Given the description of an element on the screen output the (x, y) to click on. 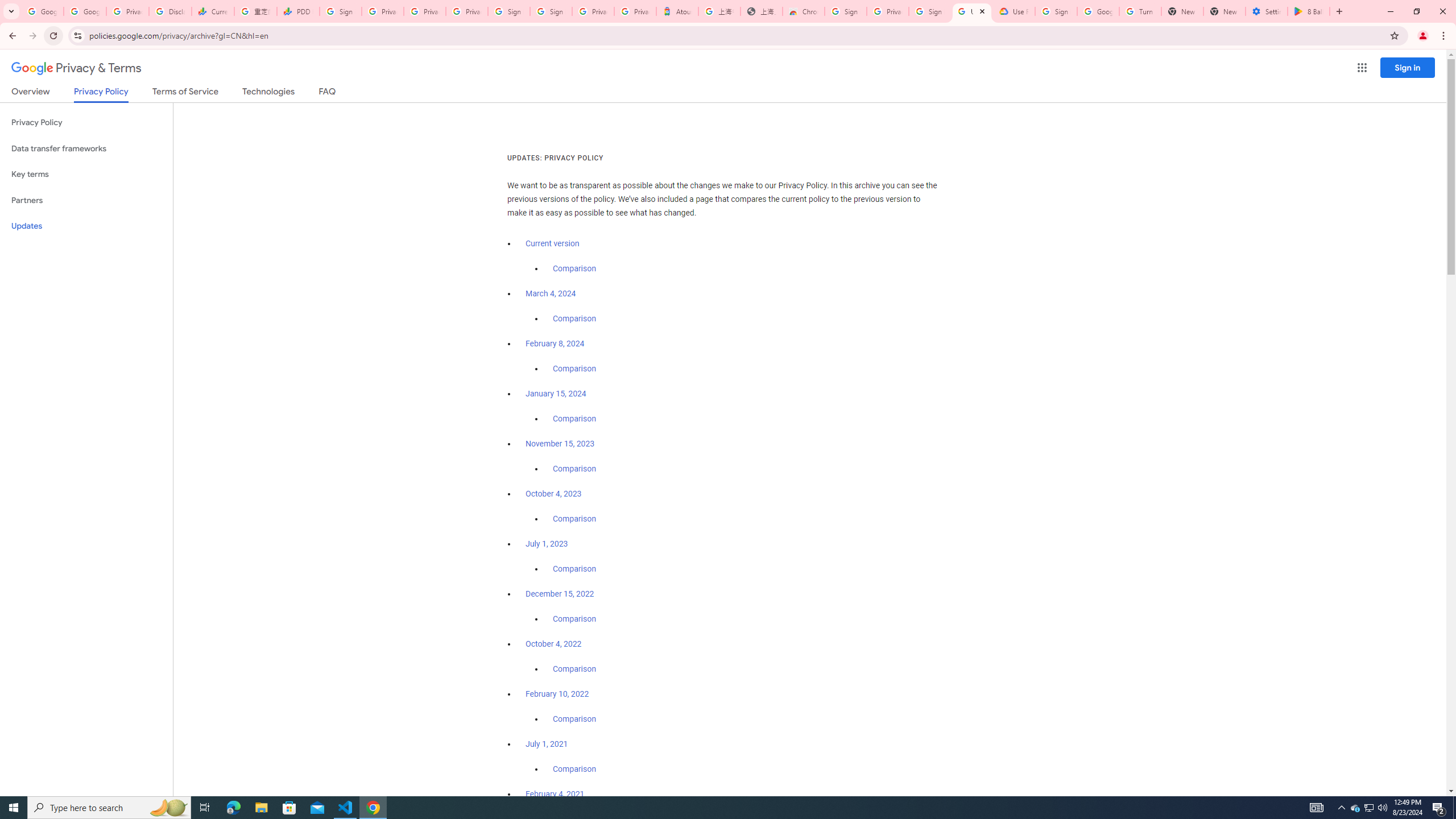
Turn cookies on or off - Computer - Google Account Help (1139, 11)
Sign in - Google Accounts (509, 11)
Privacy Checkup (424, 11)
Comparison (574, 768)
Google Workspace Admin Community (42, 11)
